Given the description of an element on the screen output the (x, y) to click on. 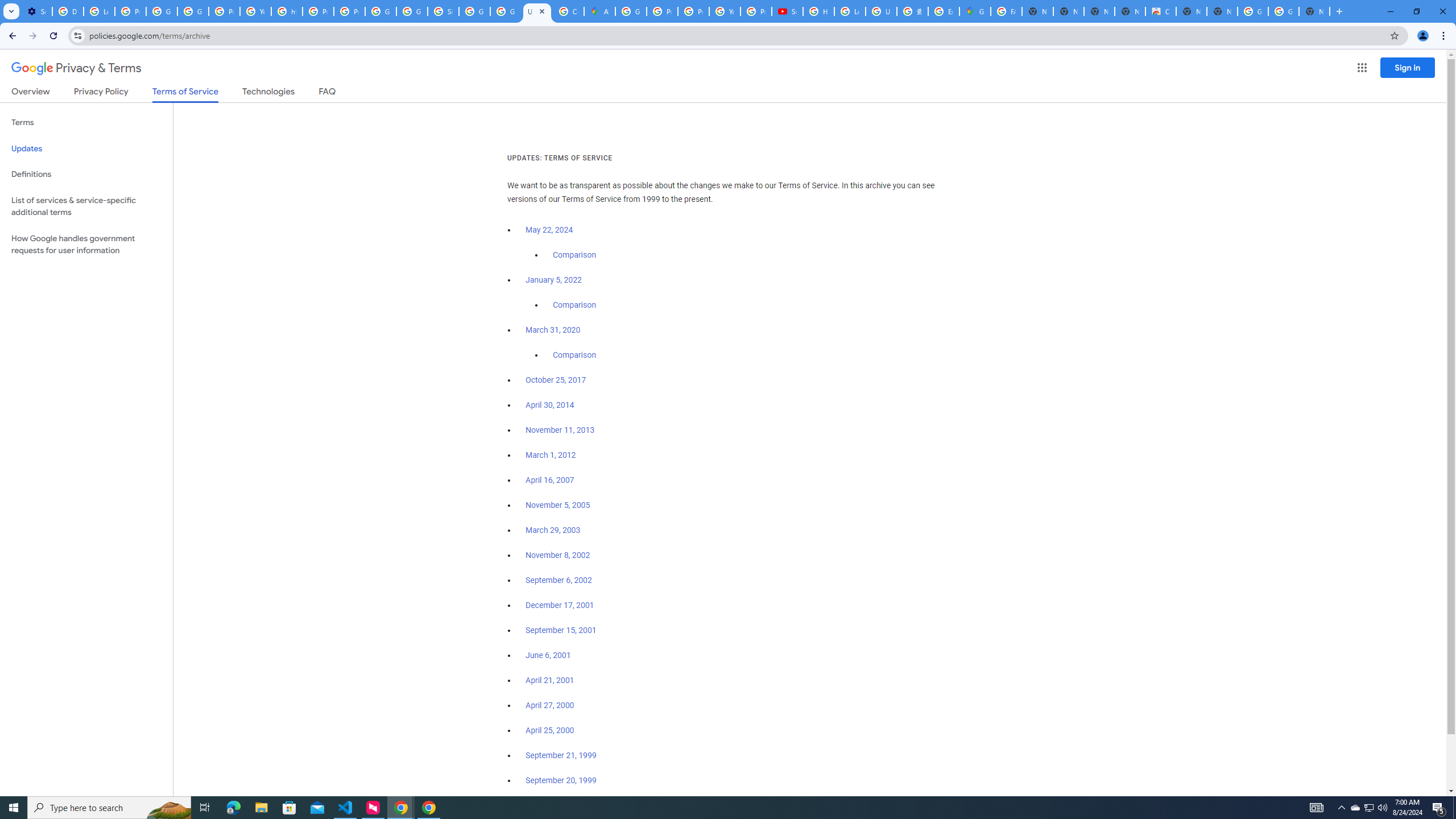
How Google handles government requests for user information (86, 244)
September 6, 2002 (558, 579)
March 31, 2020 (552, 330)
March 29, 2003 (552, 530)
Privacy Help Center - Policies Help (318, 11)
Overview (30, 93)
Delete photos & videos - Computer - Google Photos Help (67, 11)
